Given the description of an element on the screen output the (x, y) to click on. 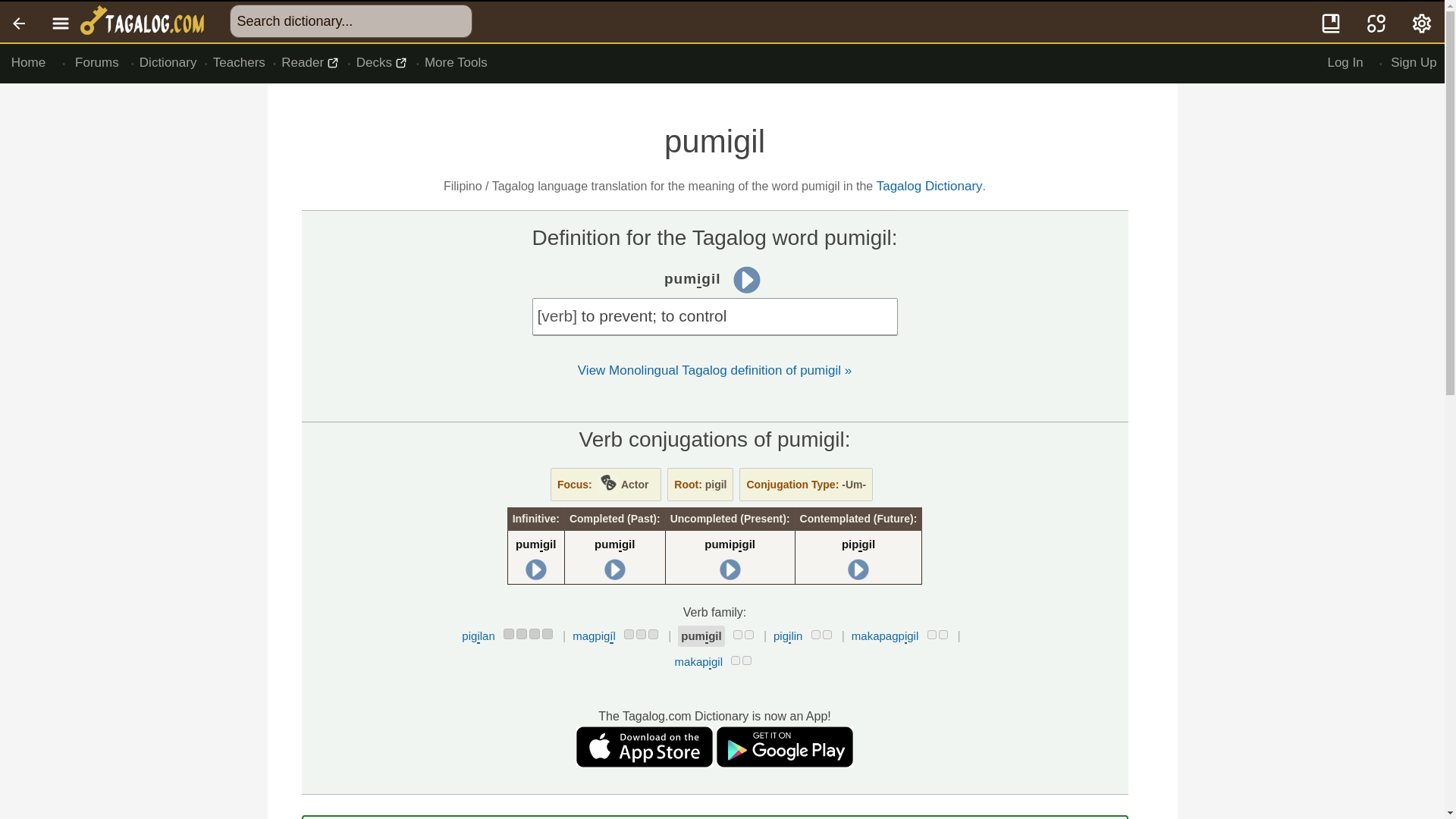
Tagalog Dictionary (929, 186)
More Tools (455, 62)
Sign Up (1414, 62)
Home (28, 62)
Log In (1345, 62)
Teachers (239, 62)
pumipigil (729, 544)
Decks (381, 62)
Dictionary (167, 62)
Root: pigil (699, 484)
pumigil (614, 544)
Quick Dictionary Search (1331, 21)
Tagalog Logo (144, 21)
pipigil (857, 544)
Forums (96, 62)
